Given the description of an element on the screen output the (x, y) to click on. 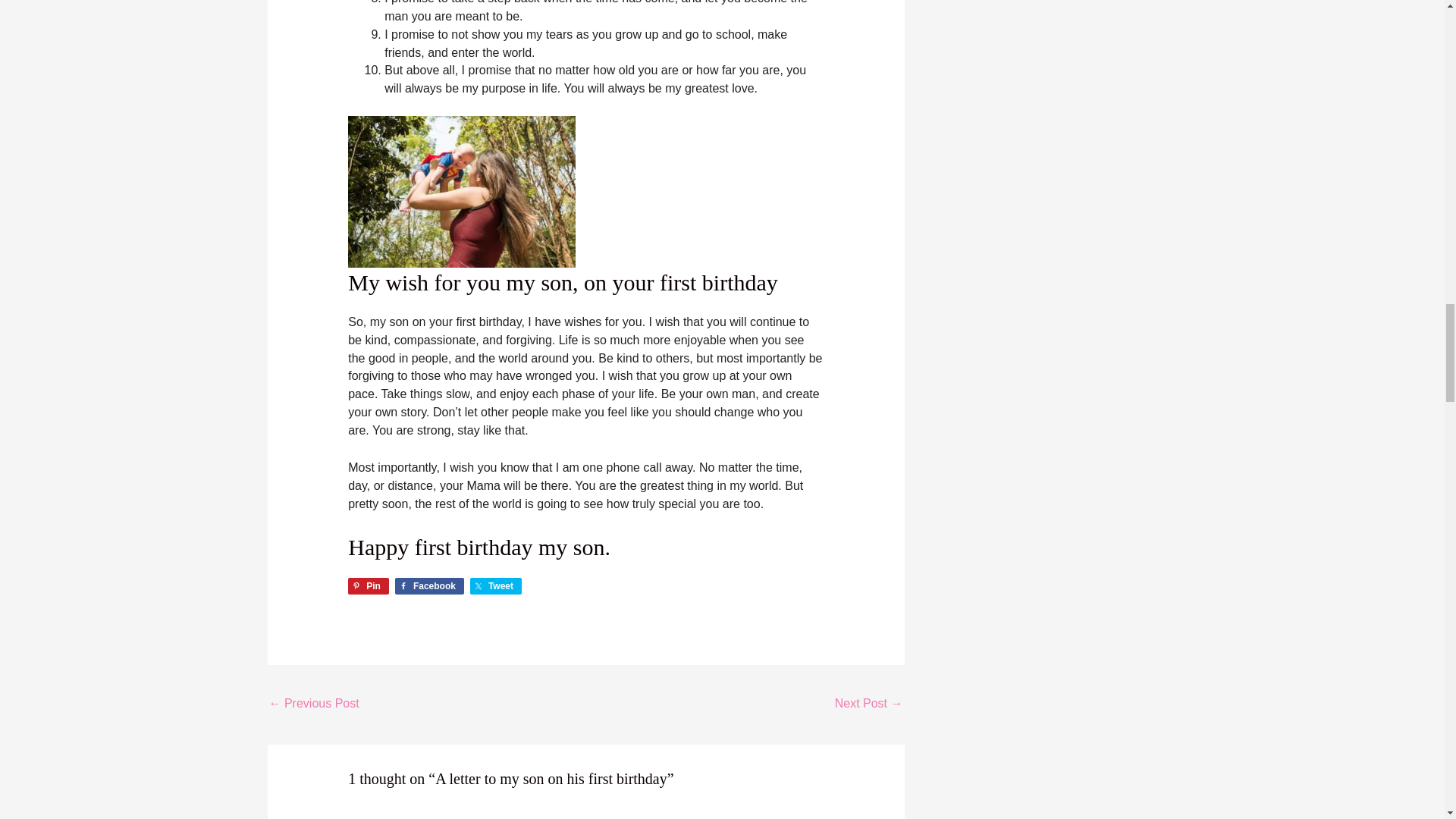
Tech free home. Is it important for my family? (868, 705)
Share on Facebook (429, 586)
Share on Twitter (495, 586)
Share on Pinterest (367, 586)
Pin (367, 586)
Facebook (429, 586)
How do I get my baby to sleep at night? (312, 705)
Tweet (495, 586)
